Given the description of an element on the screen output the (x, y) to click on. 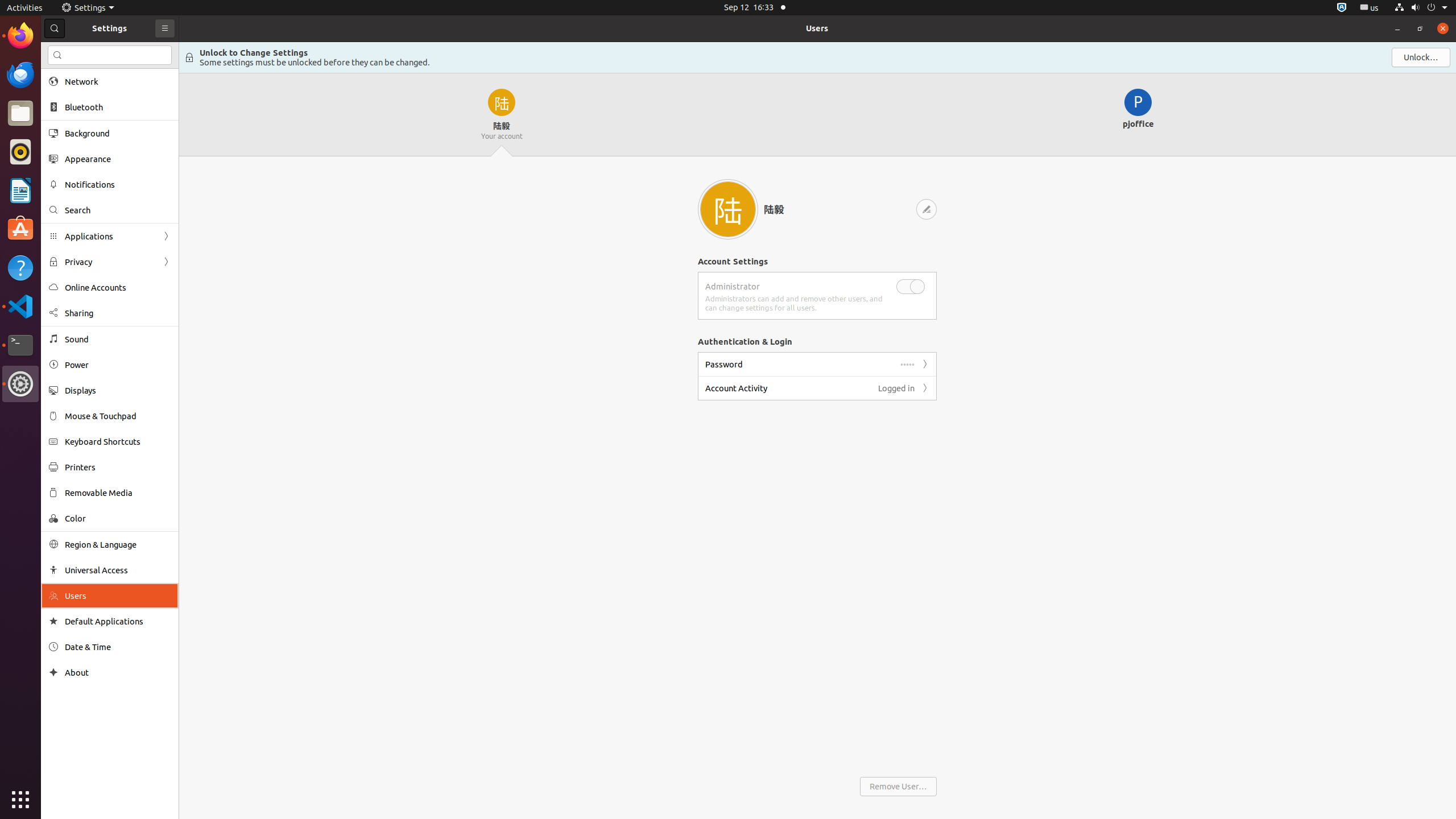
Keyboard Shortcuts Element type: label (117, 441)
Information Element type: info-bar (817, 57)
Removable Media Element type: label (117, 492)
About Element type: label (117, 672)
